Given the description of an element on the screen output the (x, y) to click on. 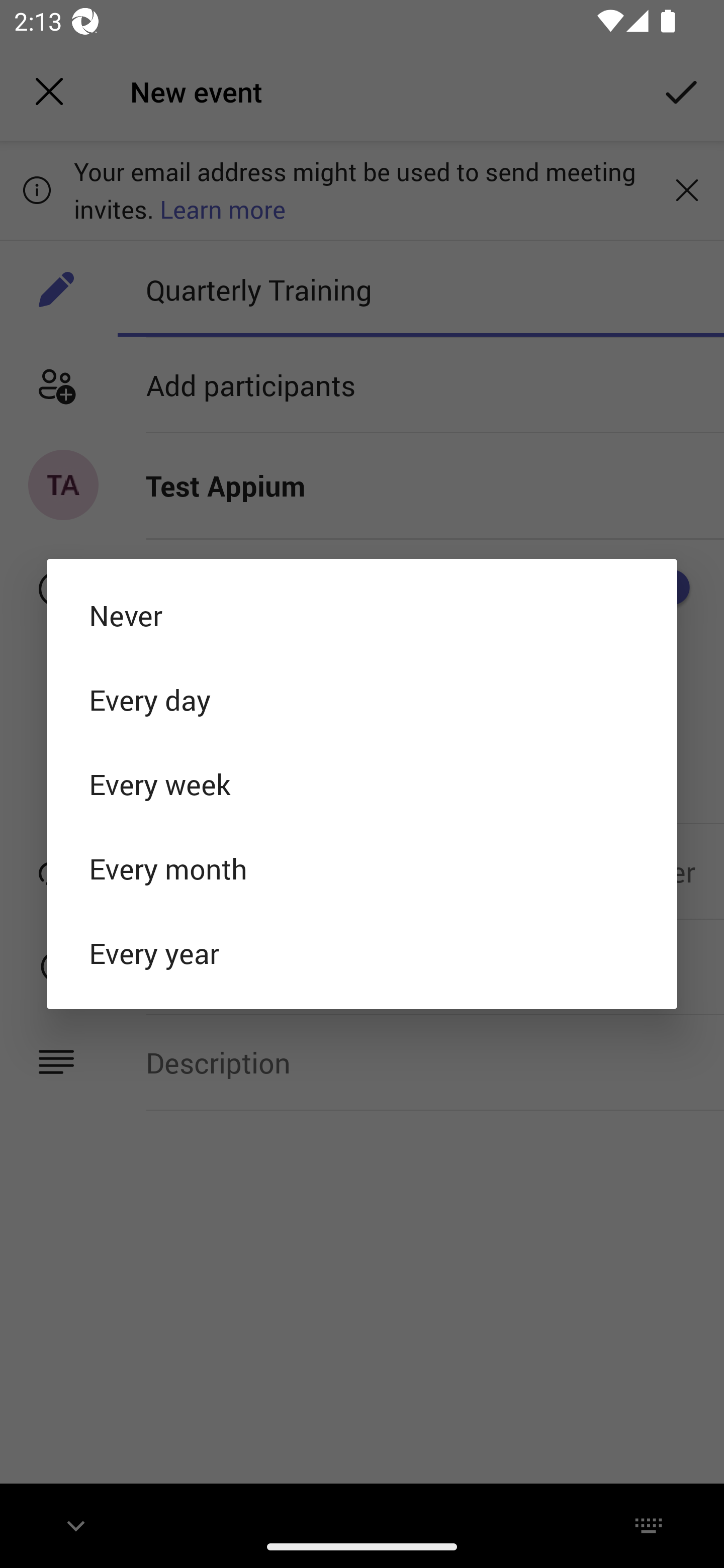
Never (361, 614)
Every day (361, 698)
Every week (361, 783)
Every month (361, 868)
Every year (361, 953)
